Given the description of an element on the screen output the (x, y) to click on. 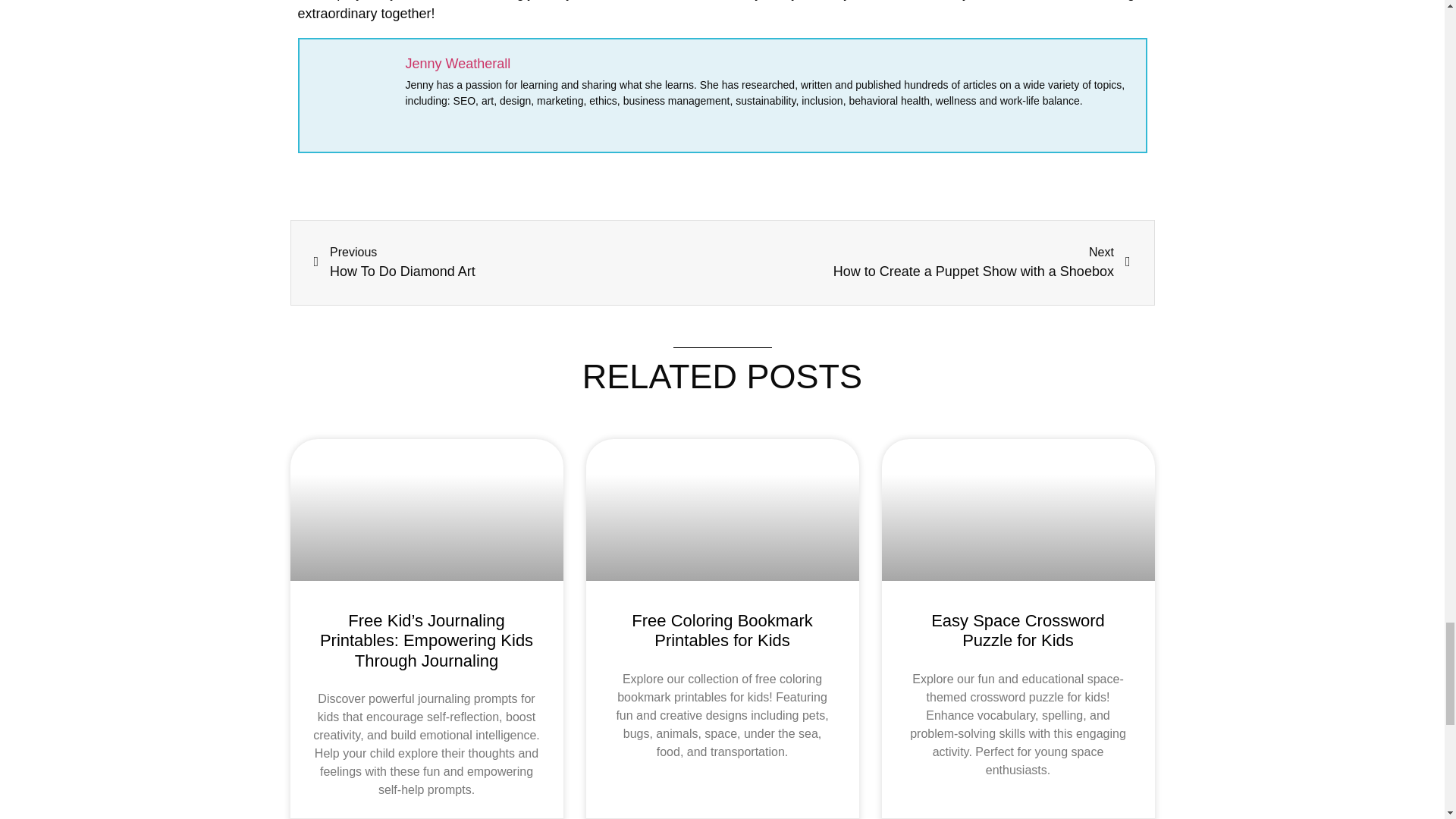
Jenny Weatherall (926, 262)
